Given the description of an element on the screen output the (x, y) to click on. 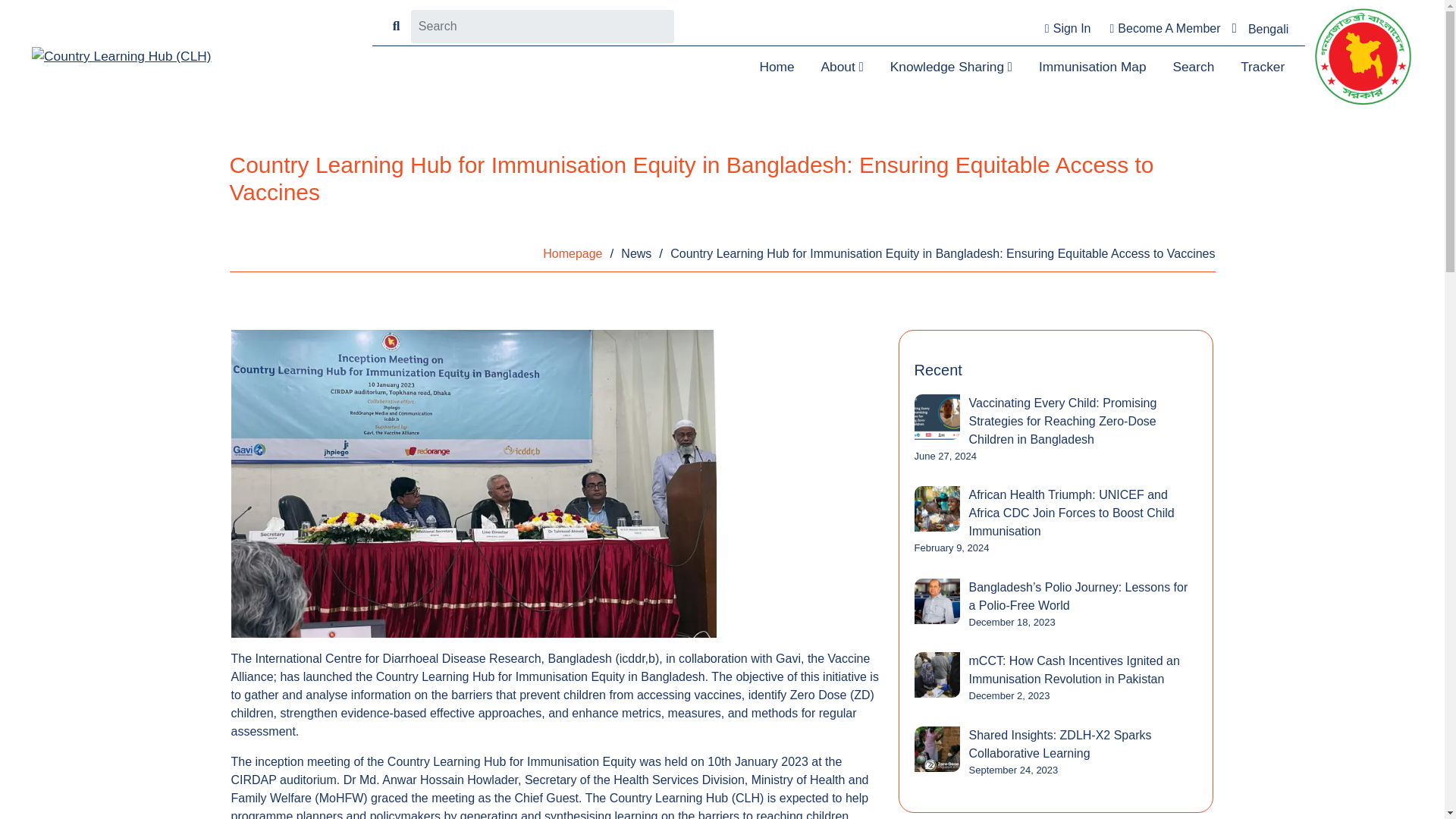
Tracker (1262, 67)
Become A Member (1163, 28)
About (841, 67)
Homepage (572, 253)
News (635, 253)
Immunisation Map (1092, 67)
Knowledge Sharing (951, 67)
Sign In (1066, 28)
Search (1192, 67)
Home (776, 67)
Bengali (1267, 29)
